Given the description of an element on the screen output the (x, y) to click on. 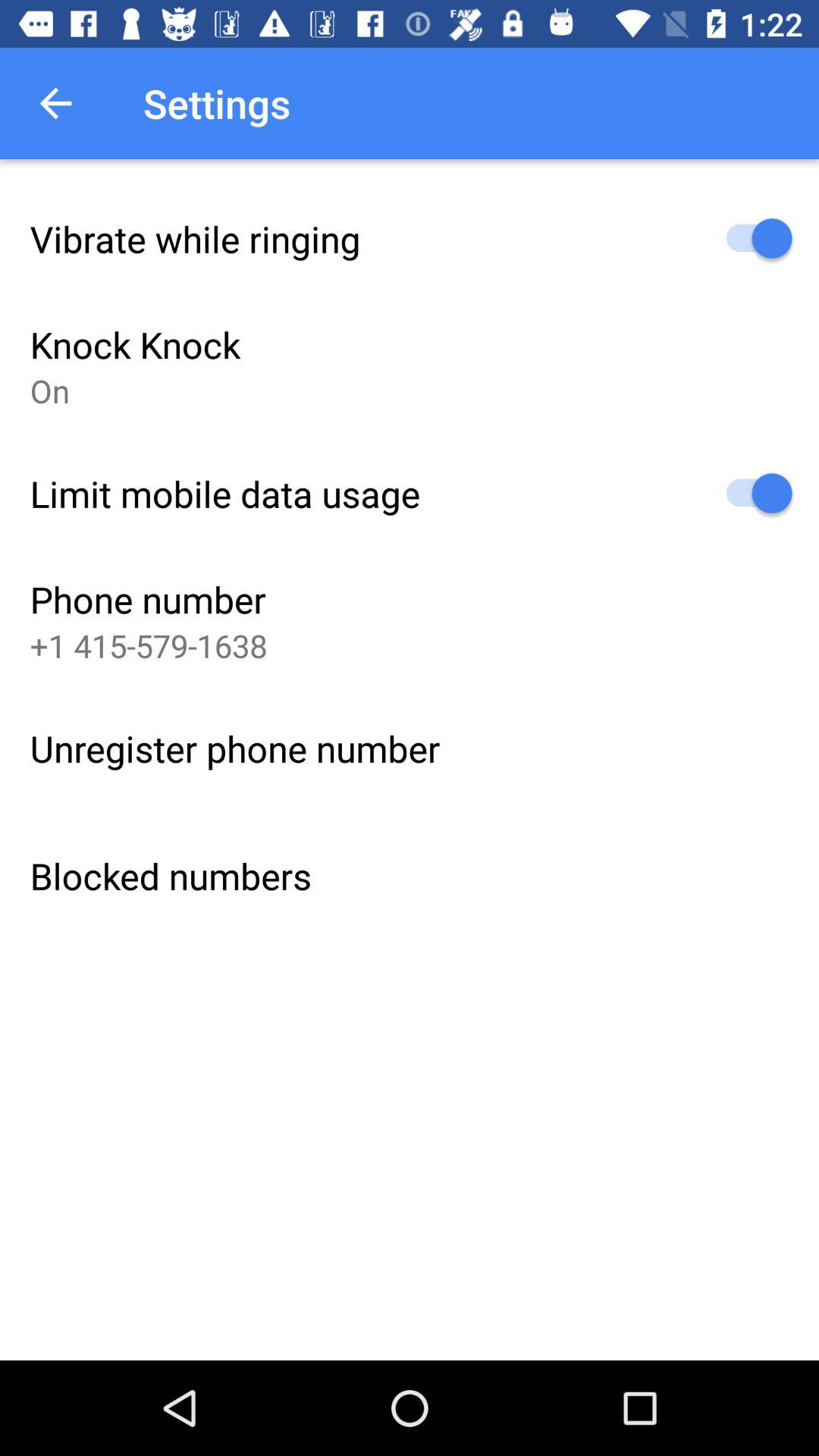
launch item above the limit mobile data (49, 390)
